Given the description of an element on the screen output the (x, y) to click on. 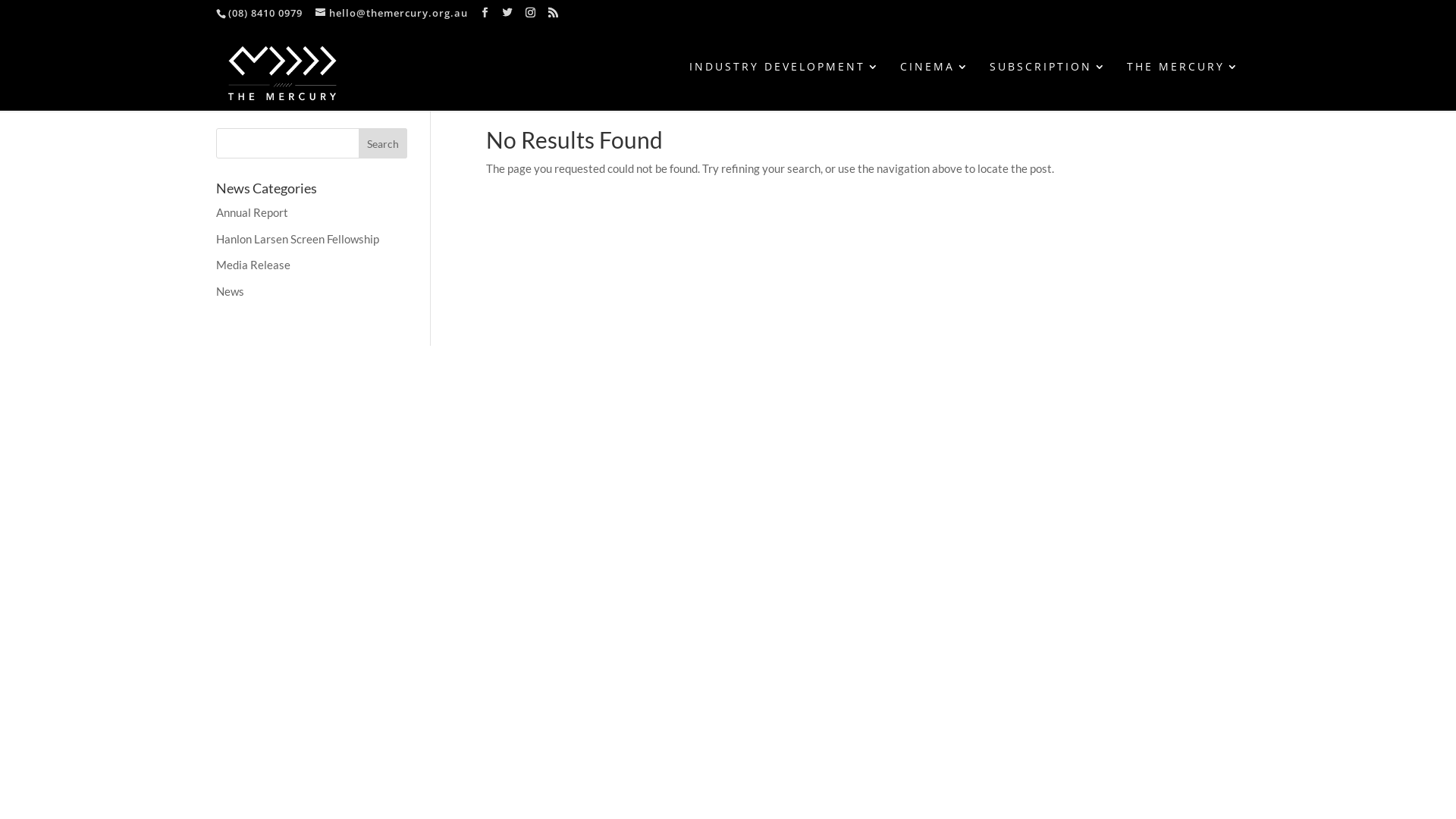
INDUSTRY DEVELOPMENT Element type: text (784, 85)
Media Release Element type: text (253, 264)
THE MERCURY Element type: text (1182, 85)
CINEMA Element type: text (934, 85)
Annual Report Element type: text (252, 212)
Search Element type: text (382, 143)
SUBSCRIPTION Element type: text (1048, 85)
hello@themercury.org.au Element type: text (391, 12)
News Element type: text (230, 290)
Hanlon Larsen Screen Fellowship Element type: text (297, 238)
